Given the description of an element on the screen output the (x, y) to click on. 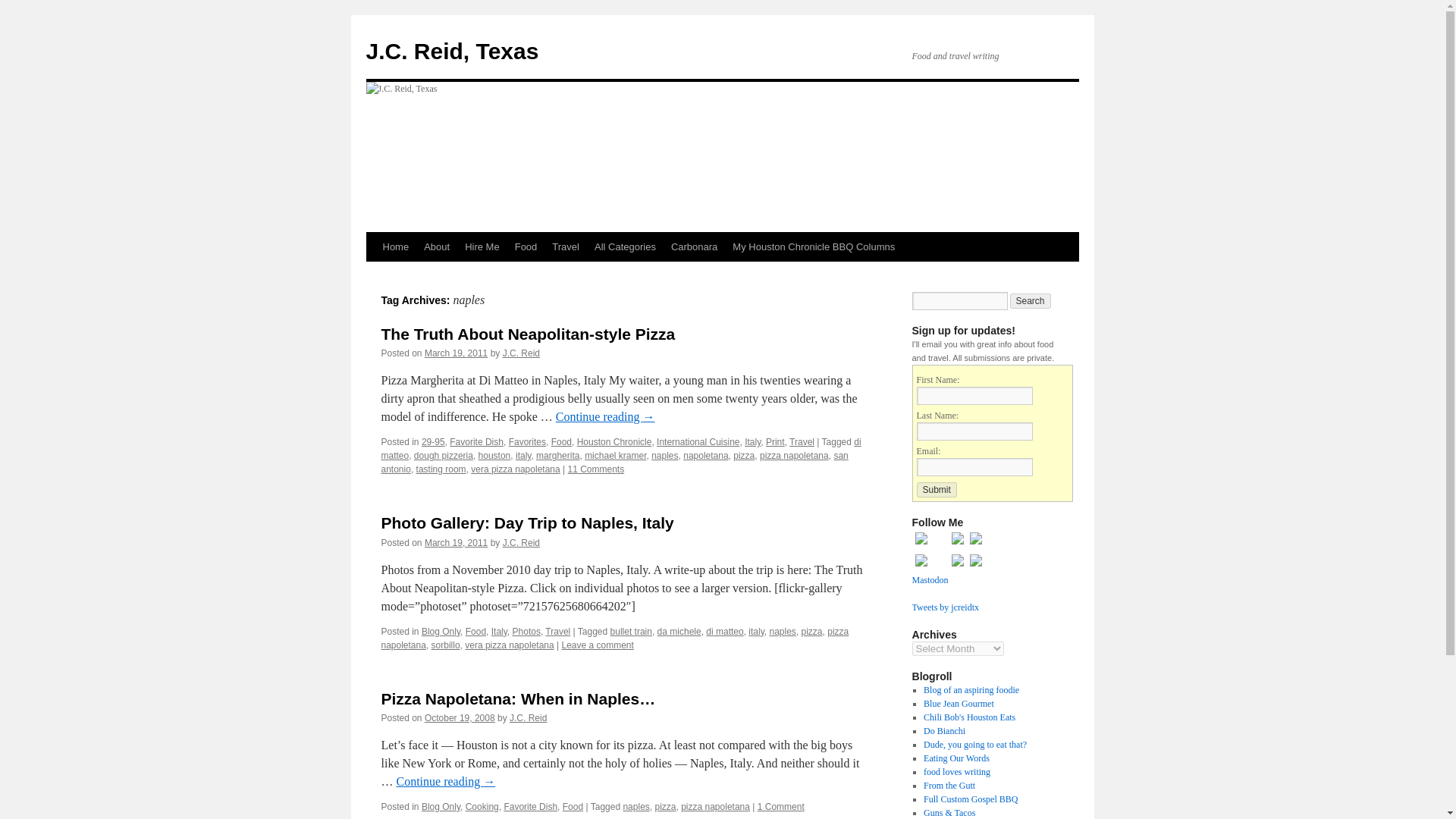
Hire Me (481, 246)
Flickr (956, 566)
Twitter (920, 543)
View all posts by J.C. Reid (521, 542)
View all posts by J.C. Reid (521, 353)
View all posts by J.C. Reid (528, 717)
Travel (565, 246)
Facebook (975, 566)
Home (395, 246)
Tumblr (956, 543)
All Categories (624, 246)
6:00 am (456, 353)
About (436, 246)
Submit (935, 489)
2:18 pm (460, 717)
